Given the description of an element on the screen output the (x, y) to click on. 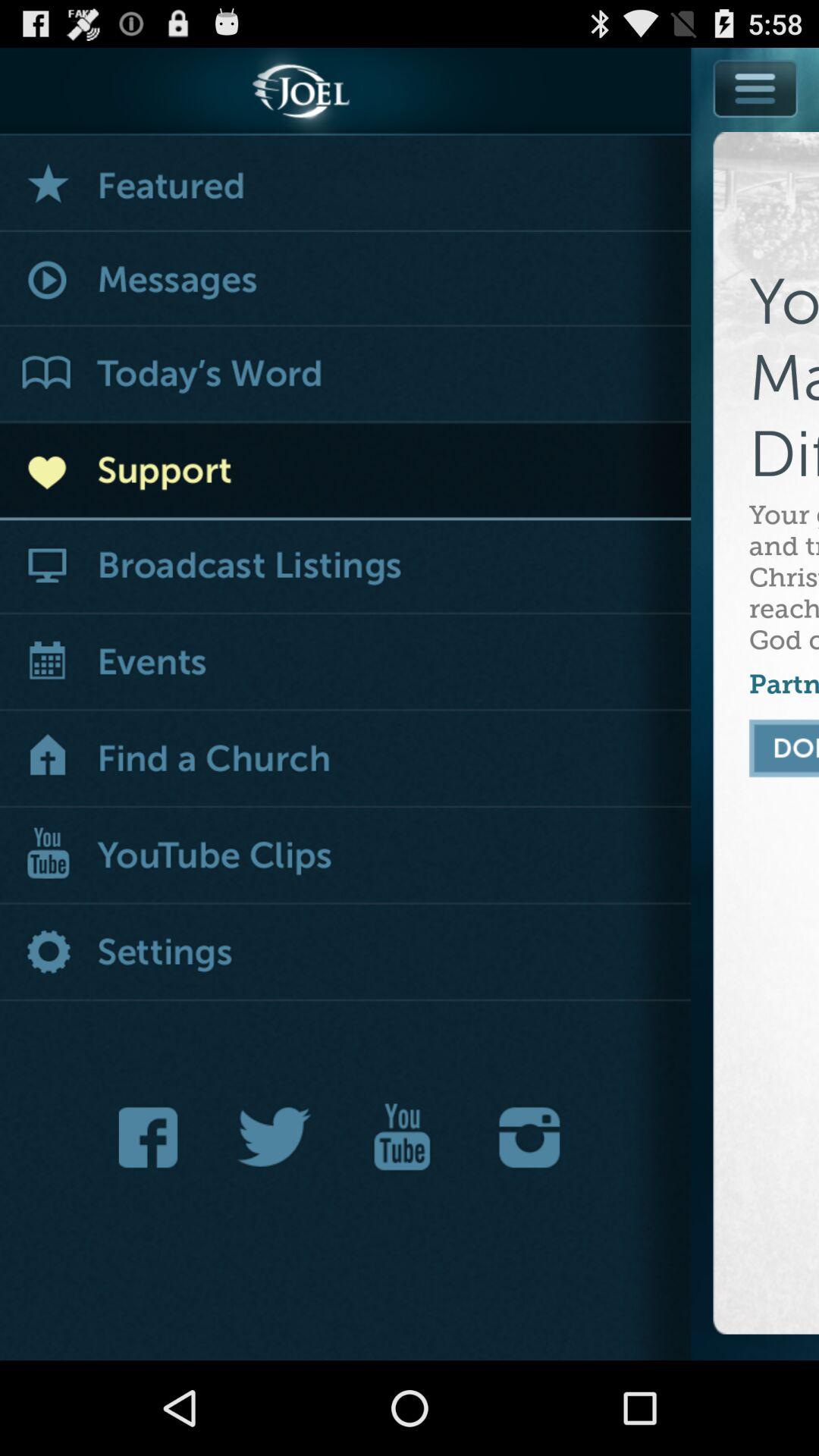
view menu (755, 122)
